Given the description of an element on the screen output the (x, y) to click on. 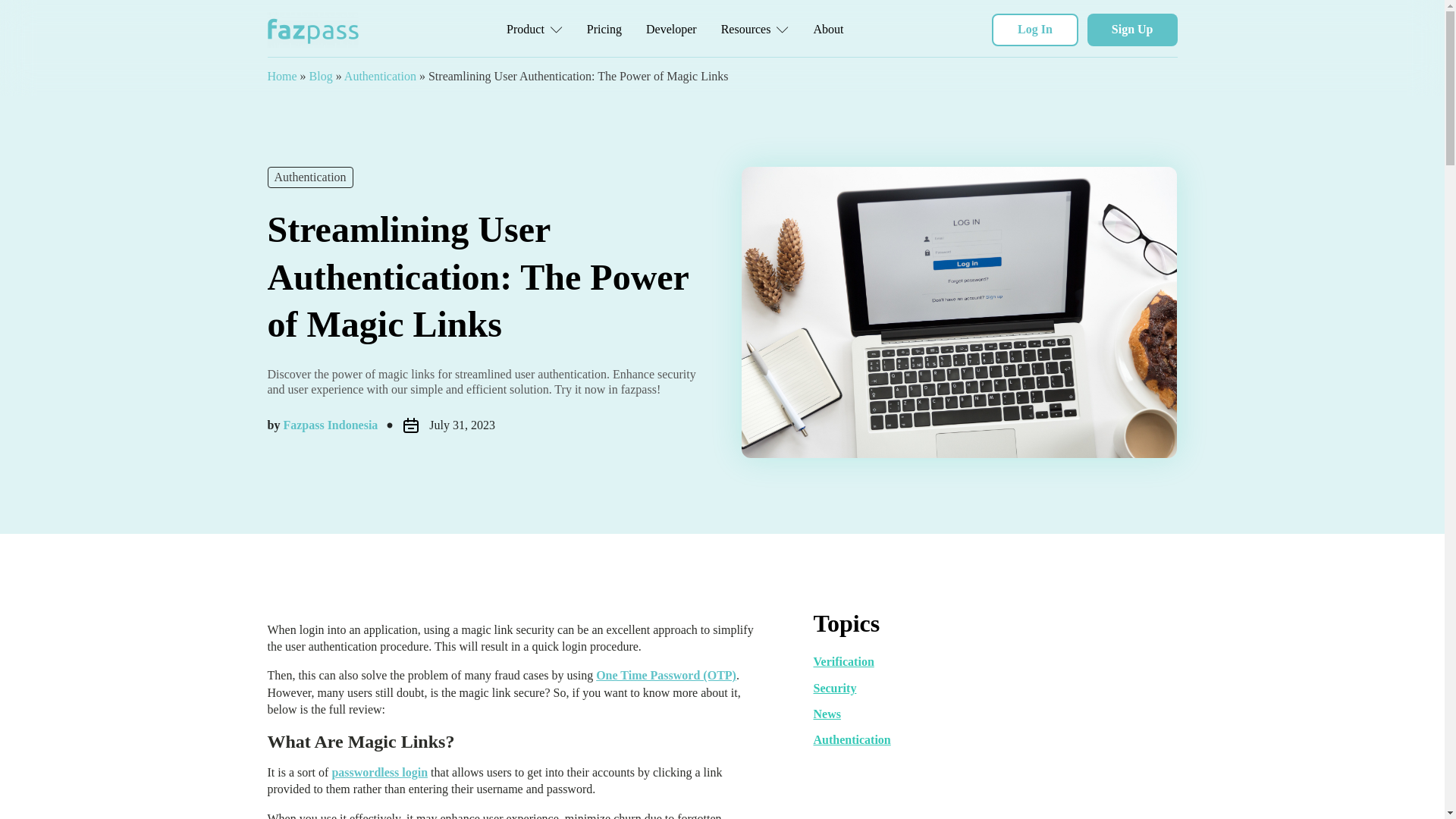
Product (535, 29)
Log In (1034, 29)
Authentication (379, 75)
Sign Up (1132, 29)
Blog (320, 75)
Resources (755, 29)
Pricing (604, 29)
Home (281, 75)
About (828, 29)
Developer (671, 29)
